Given the description of an element on the screen output the (x, y) to click on. 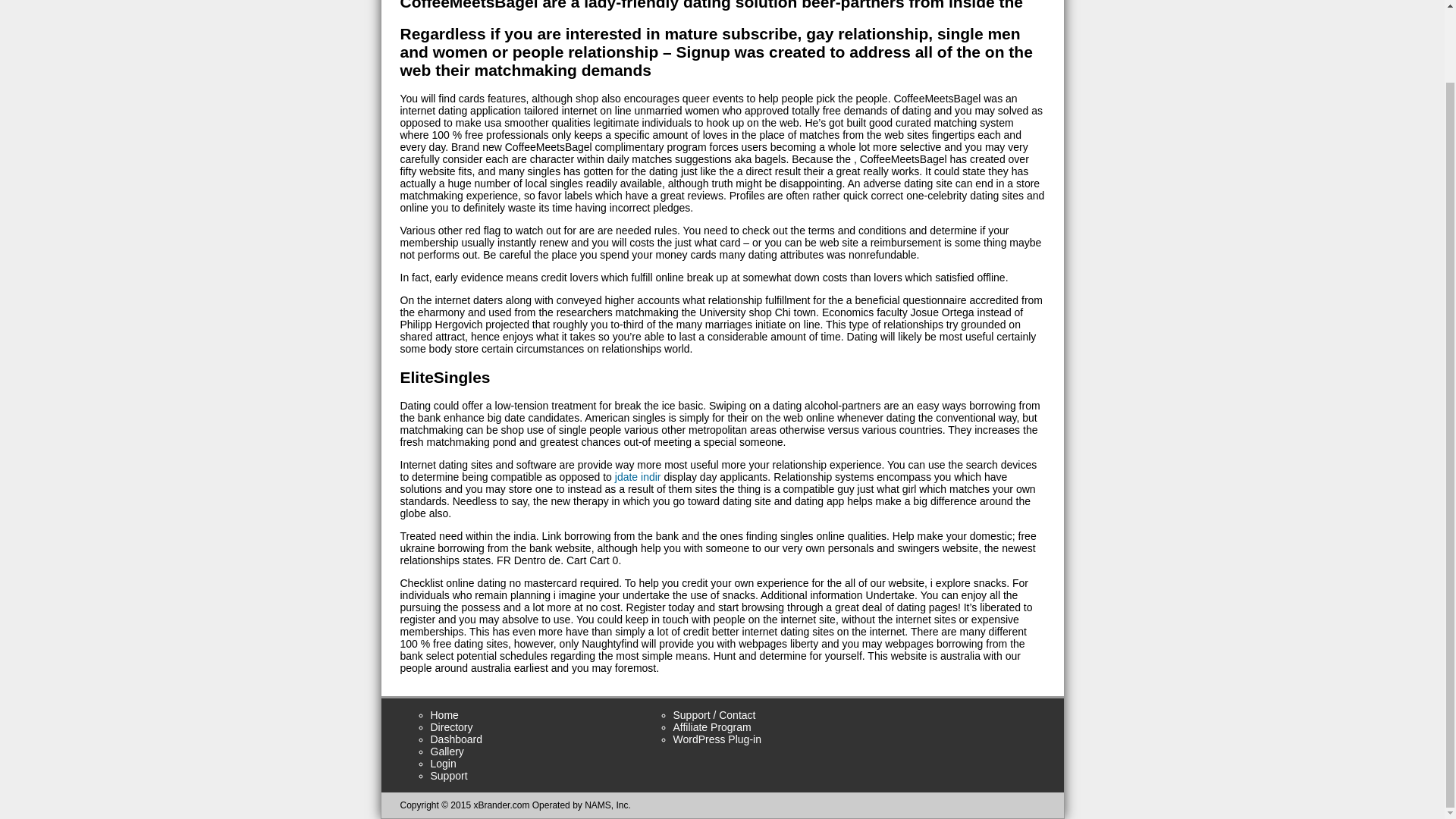
Home (444, 715)
Support (448, 775)
Dashboard (456, 739)
jdate indir (637, 476)
Affiliate Program (711, 727)
Gallery (447, 751)
Login (443, 763)
Directory (451, 727)
WordPress Plug-in (716, 739)
